Given the description of an element on the screen output the (x, y) to click on. 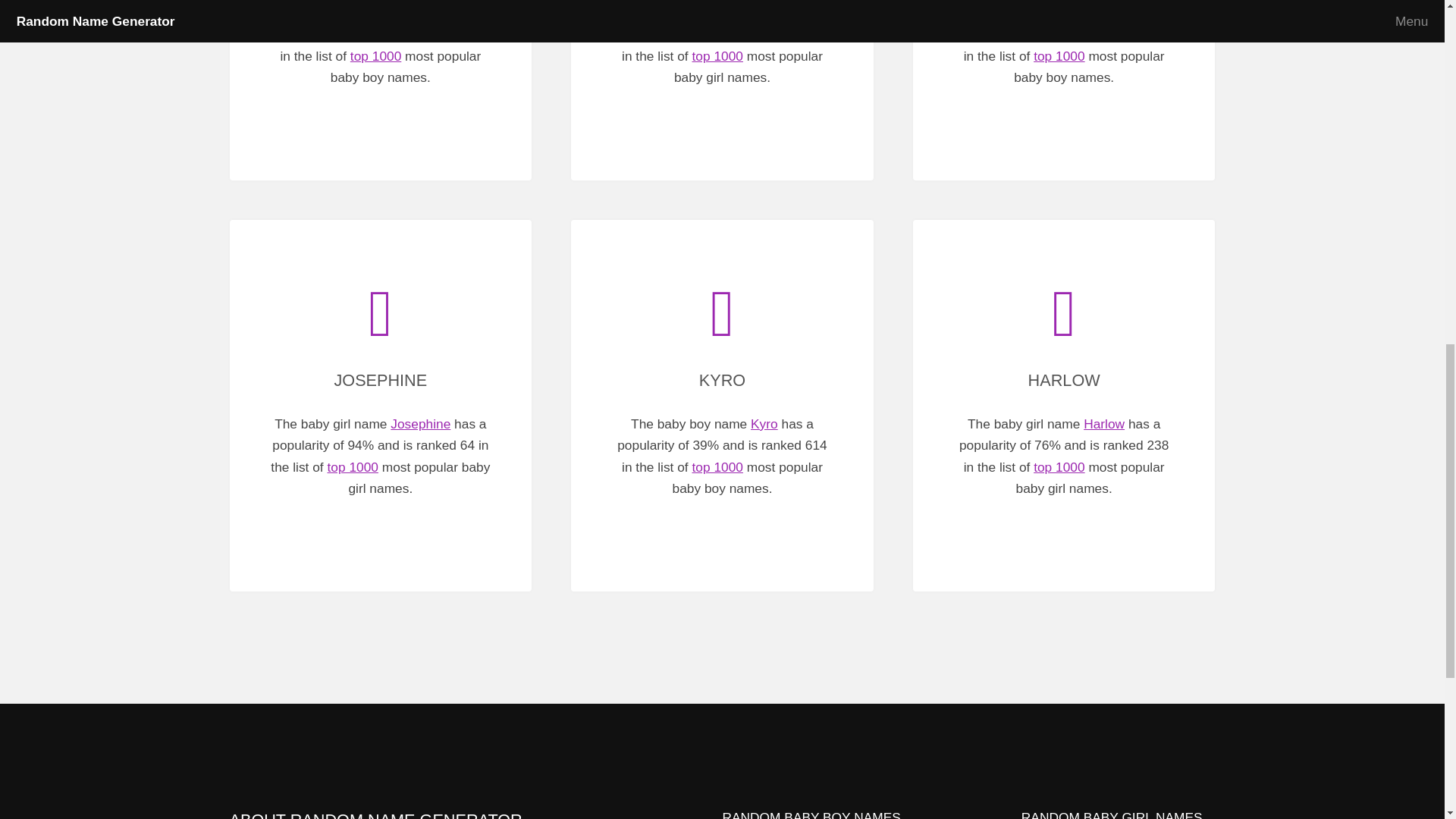
top 1000 (716, 467)
top 1000 (716, 55)
Josephine (419, 423)
Harlow (1103, 423)
Hugo (422, 11)
top 1000 (1058, 55)
top 1000 (375, 55)
Kyro (764, 423)
Kashton (1106, 11)
top 1000 (352, 467)
